Given the description of an element on the screen output the (x, y) to click on. 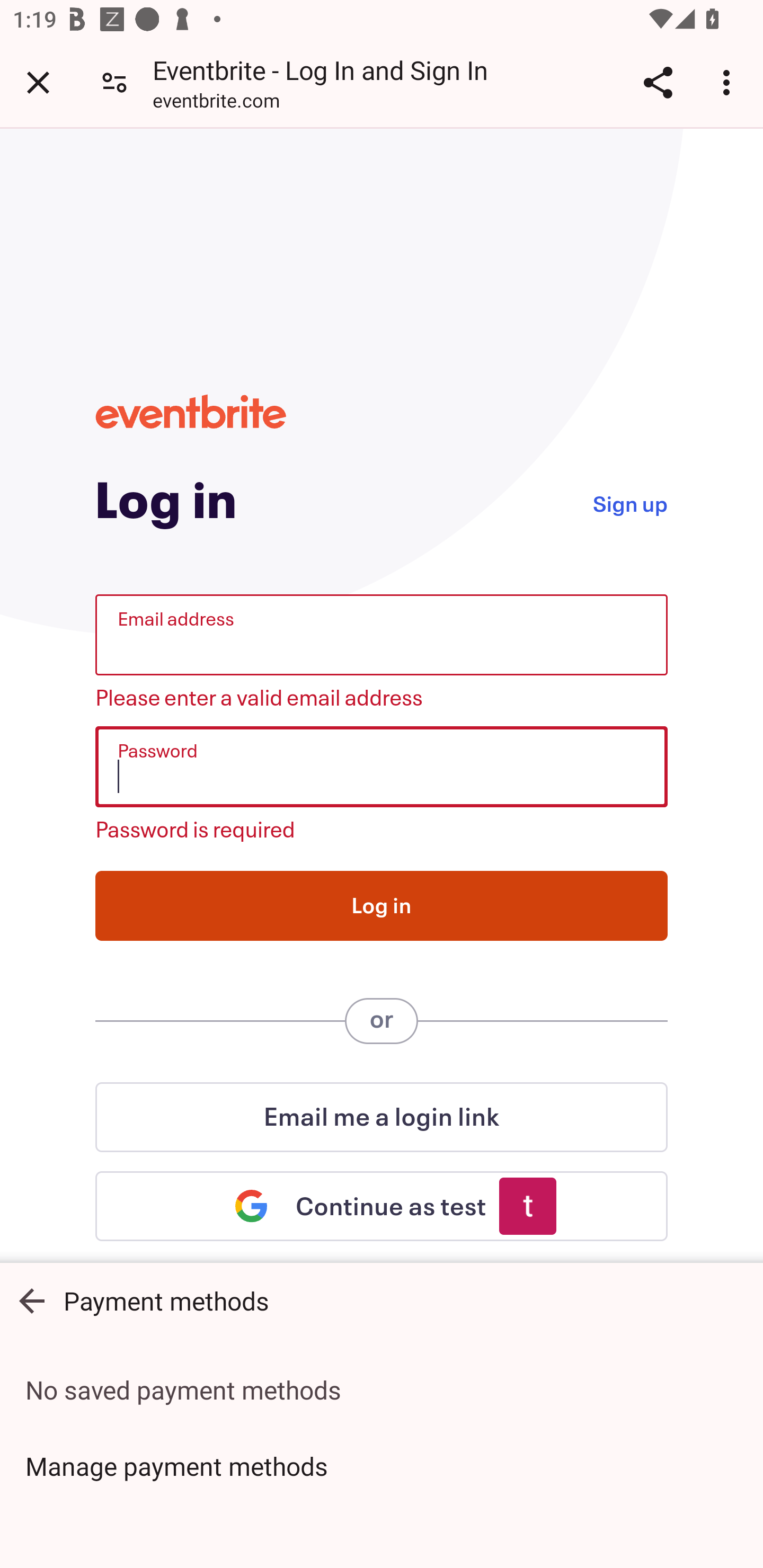
Close tab (38, 82)
Share (657, 82)
Customize and control Google Chrome (729, 82)
Connection is secure (114, 81)
eventbrite.com (216, 103)
www.eventbrite (190, 411)
Sign up (629, 502)
Log in (381, 905)
Email me a login link (381, 1116)
Show keyboard Payment methods (381, 1300)
Show keyboard (31, 1300)
Manage payment methods (381, 1465)
